Given the description of an element on the screen output the (x, y) to click on. 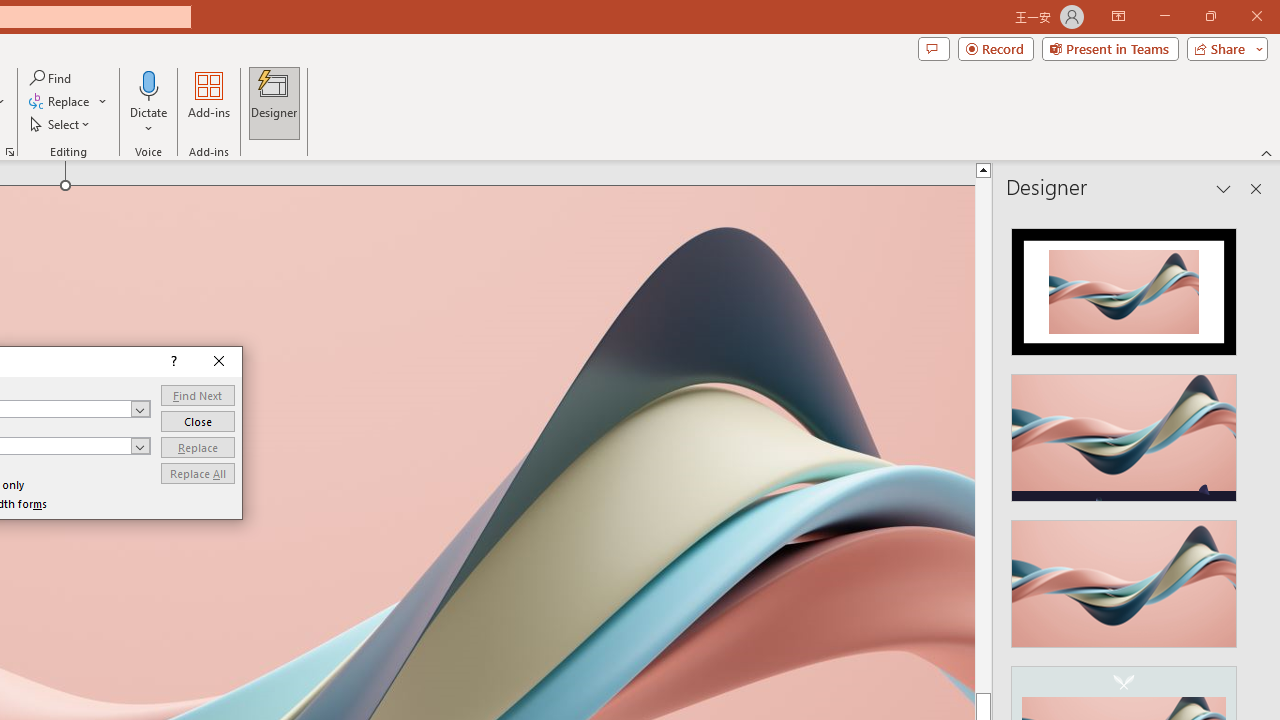
Context help (171, 362)
Find Next (197, 394)
